Given the description of an element on the screen output the (x, y) to click on. 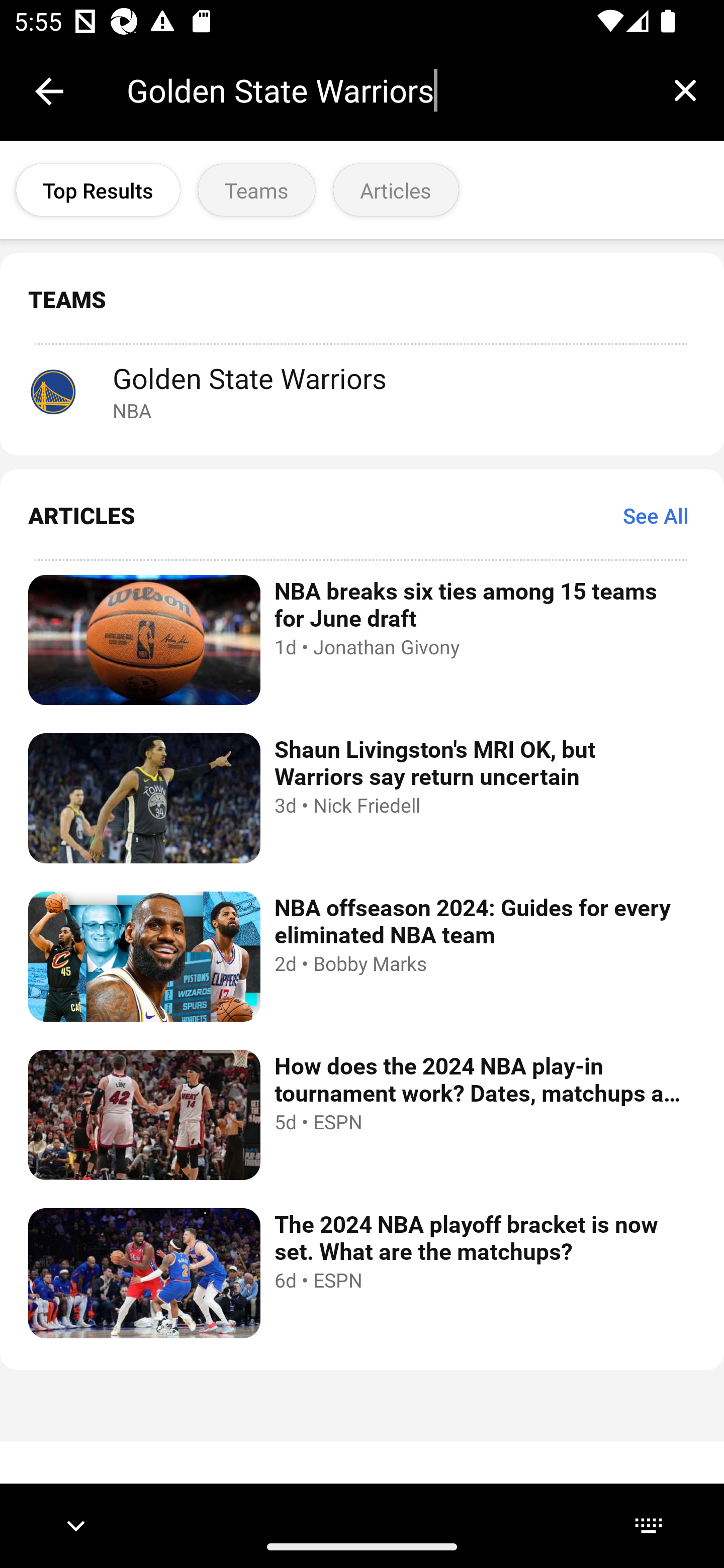
Collapse (49, 91)
Clear query (685, 89)
Golden State Warriors (386, 90)
Top Results (97, 190)
Teams (256, 190)
Articles (395, 190)
See All (655, 514)
